Given the description of an element on the screen output the (x, y) to click on. 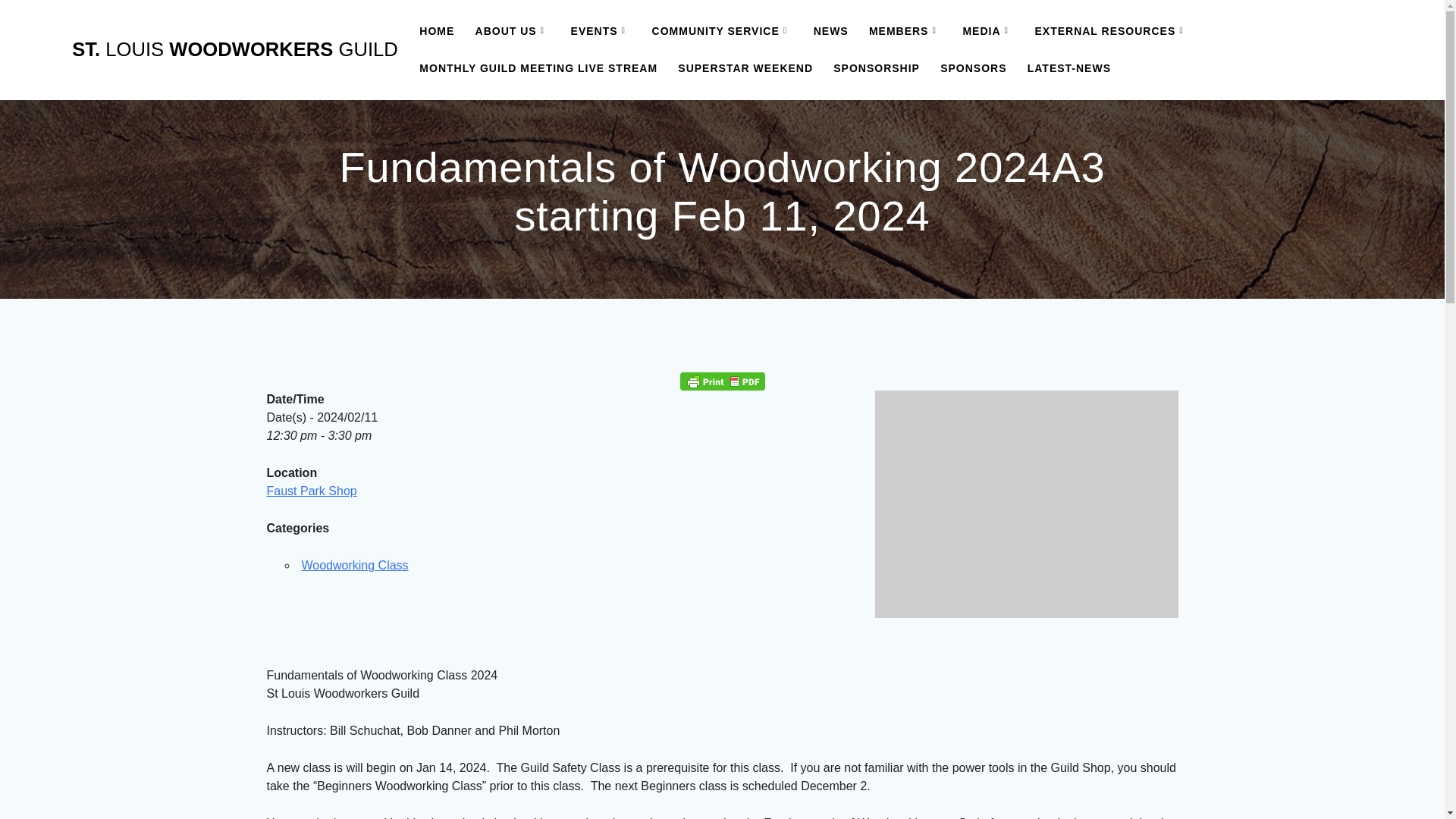
ABOUT US (513, 30)
NEWS (830, 30)
EXTERNAL RESOURCES (1111, 30)
MEMBERS (905, 30)
MEDIA (987, 30)
COMMUNITY SERVICE (722, 30)
HOME (436, 30)
ST. LOUIS WOODWORKERS GUILD (234, 49)
EVENTS (600, 30)
